Given the description of an element on the screen output the (x, y) to click on. 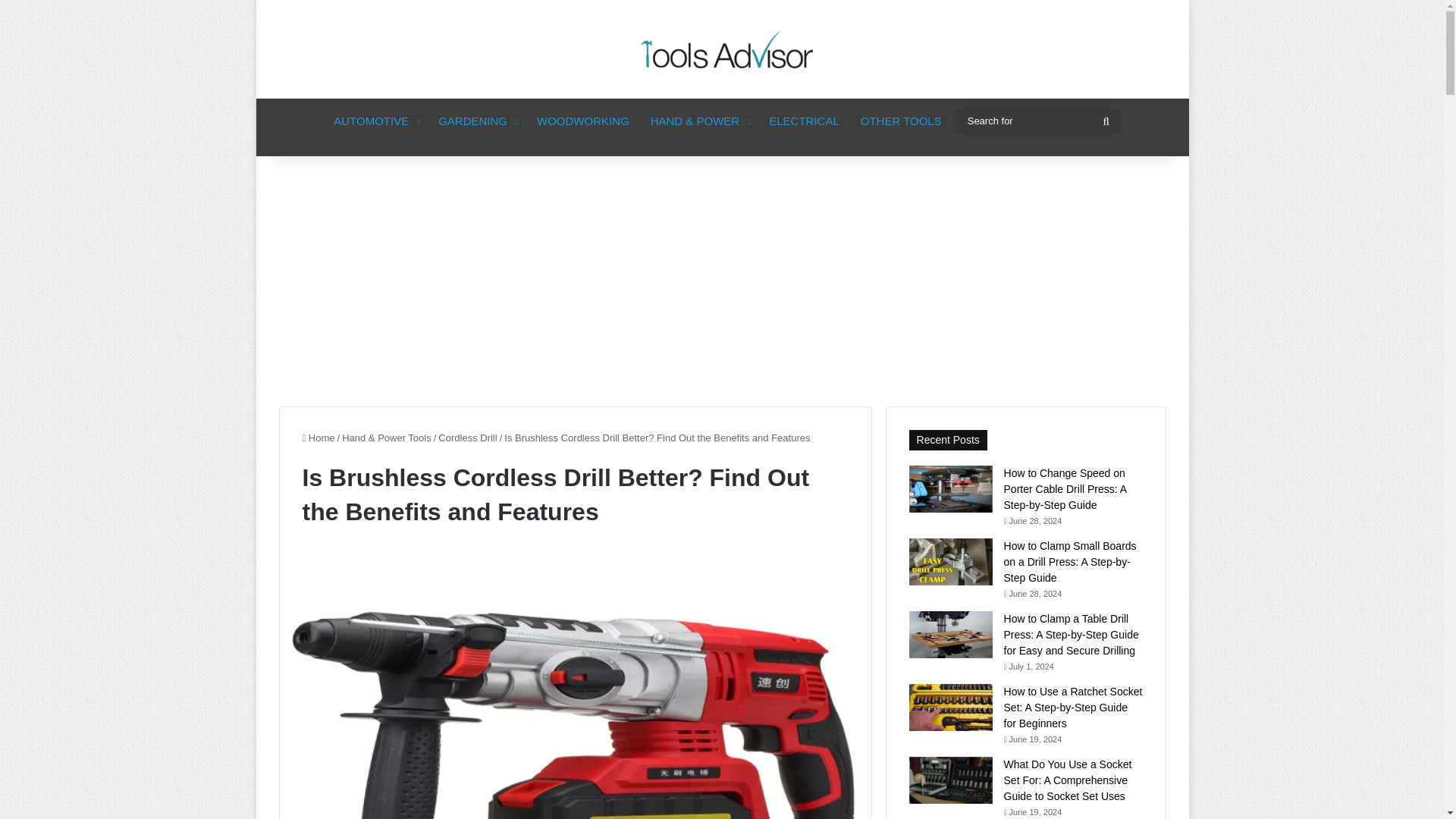
AUTOMOTIVE (375, 121)
OTHER TOOLS (901, 121)
ELECTRICAL (804, 121)
WOODWORKING (582, 121)
Cordless Drill (467, 437)
Tools Advisor (721, 48)
Home (317, 437)
GARDENING (476, 121)
Search for (1036, 120)
